Given the description of an element on the screen output the (x, y) to click on. 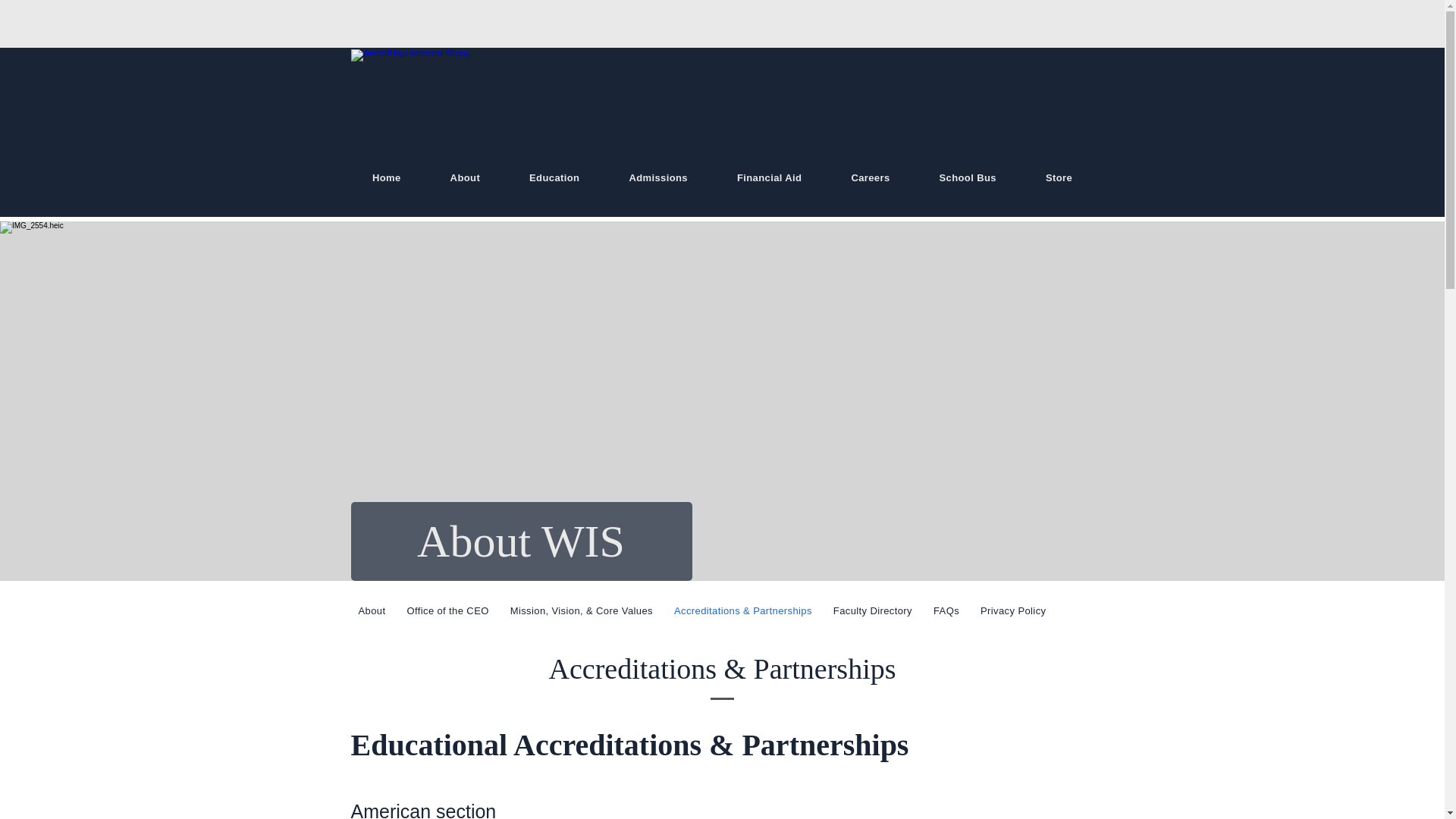
Financial Aid (768, 177)
Home (386, 177)
Admissions (658, 177)
Privacy Policy (1012, 609)
Faculty Directory (872, 609)
Education (554, 177)
Office of the CEO (447, 609)
School Bus (967, 177)
Careers (870, 177)
